Given the description of an element on the screen output the (x, y) to click on. 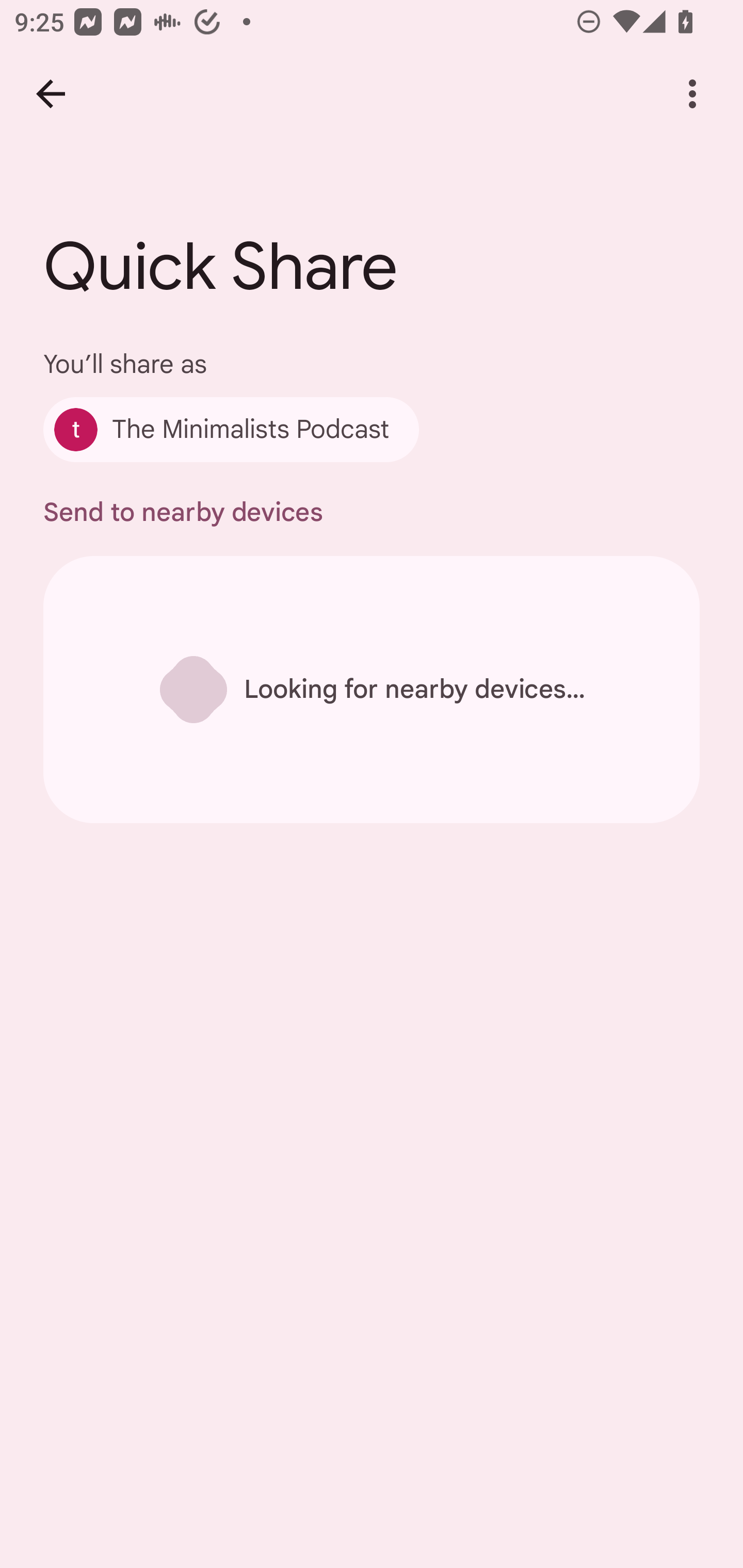
Back (50, 93)
More (692, 93)
The Minimalists Podcast (231, 429)
